Given the description of an element on the screen output the (x, y) to click on. 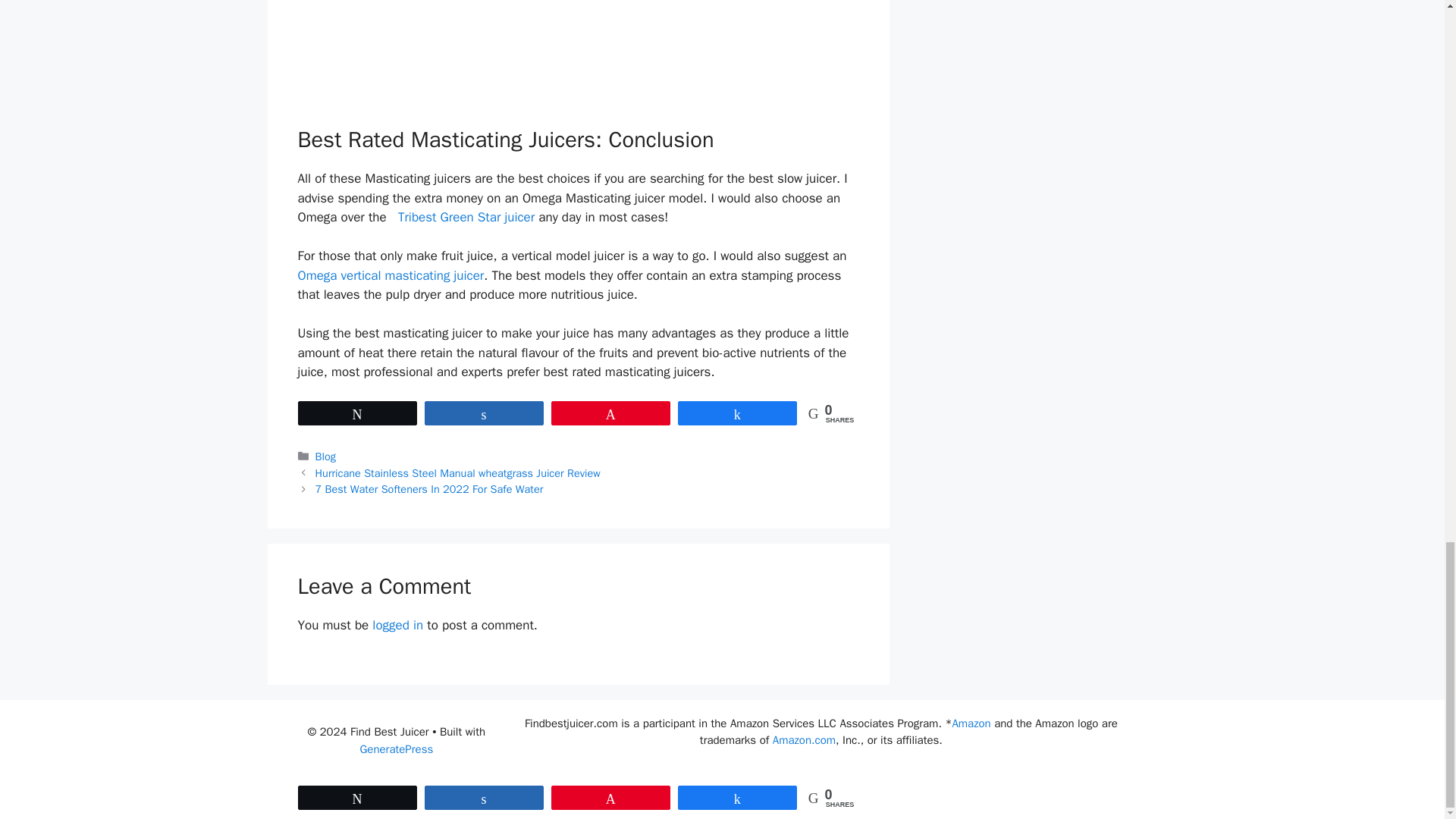
7 Best Water Softeners In 2022 For Safe Water (429, 489)
Tribest Green Star juicer (467, 217)
Previous (457, 472)
Next (429, 489)
Omega vertical masticating juicer (390, 275)
Blog (325, 456)
logged in (397, 625)
Hurricane Stainless Steel Manual wheatgrass Juicer Review (457, 472)
